Given the description of an element on the screen output the (x, y) to click on. 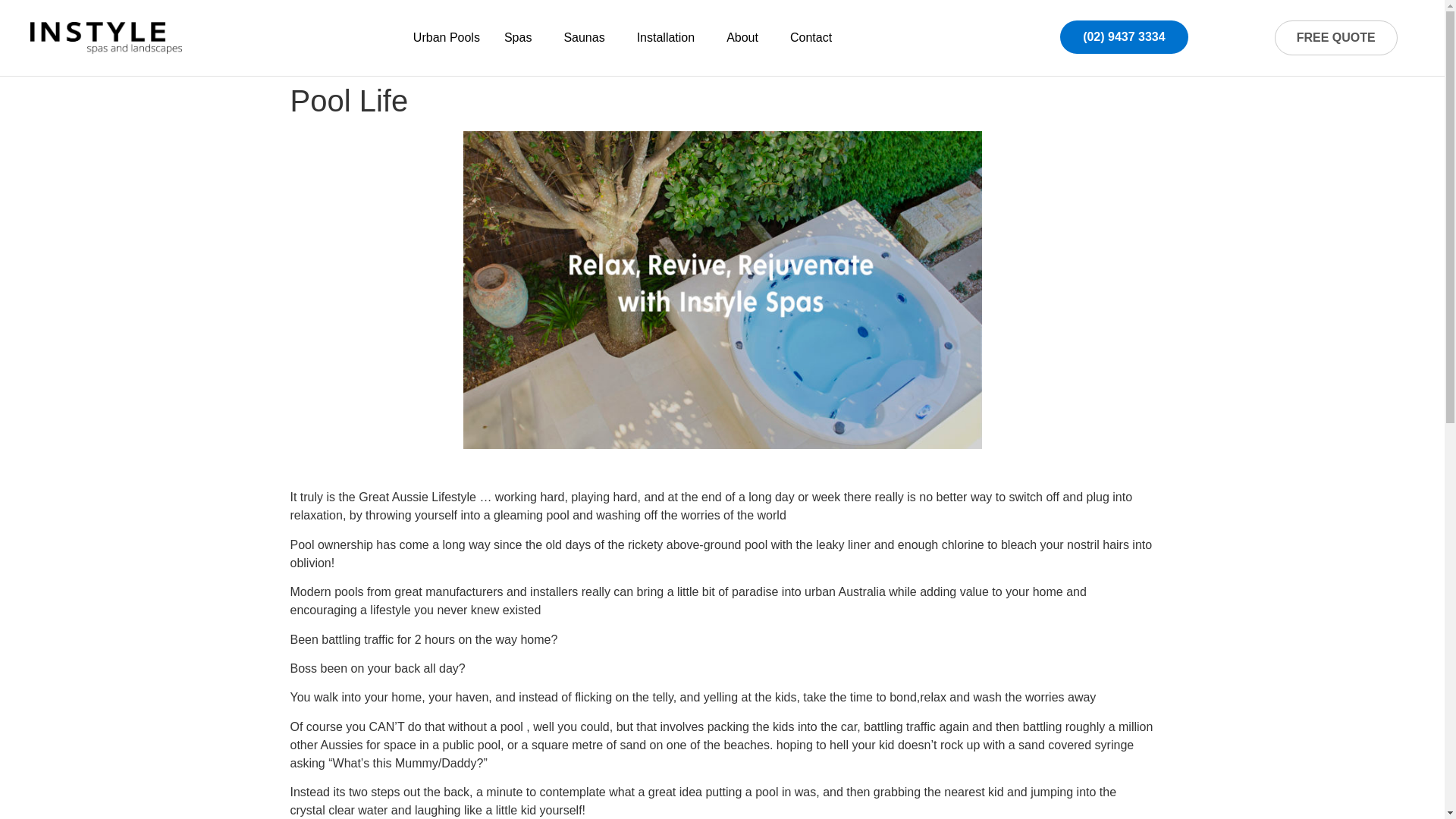
About (745, 37)
Urban Pools (446, 37)
Contact (810, 37)
Saunas (587, 37)
Installation (669, 37)
Spas (521, 37)
FREE QUOTE (1336, 37)
